Given the description of an element on the screen output the (x, y) to click on. 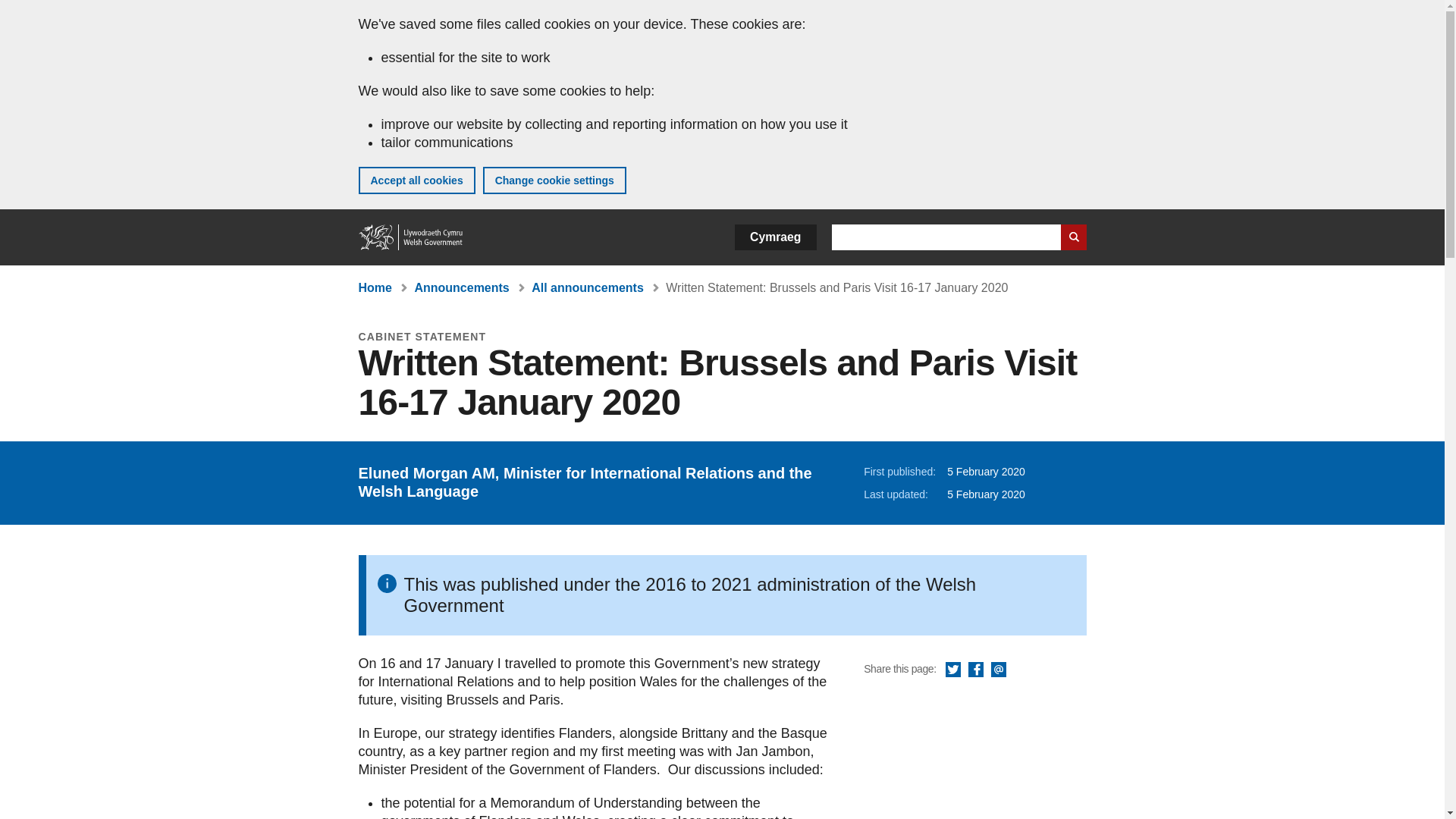
Home (374, 287)
Announcements (460, 287)
Facebook (976, 669)
Search website (1072, 237)
Email (998, 669)
Twitter (952, 669)
All announcements (587, 287)
Home (411, 237)
Change cookie settings (554, 180)
Accept all cookies (416, 180)
